Given the description of an element on the screen output the (x, y) to click on. 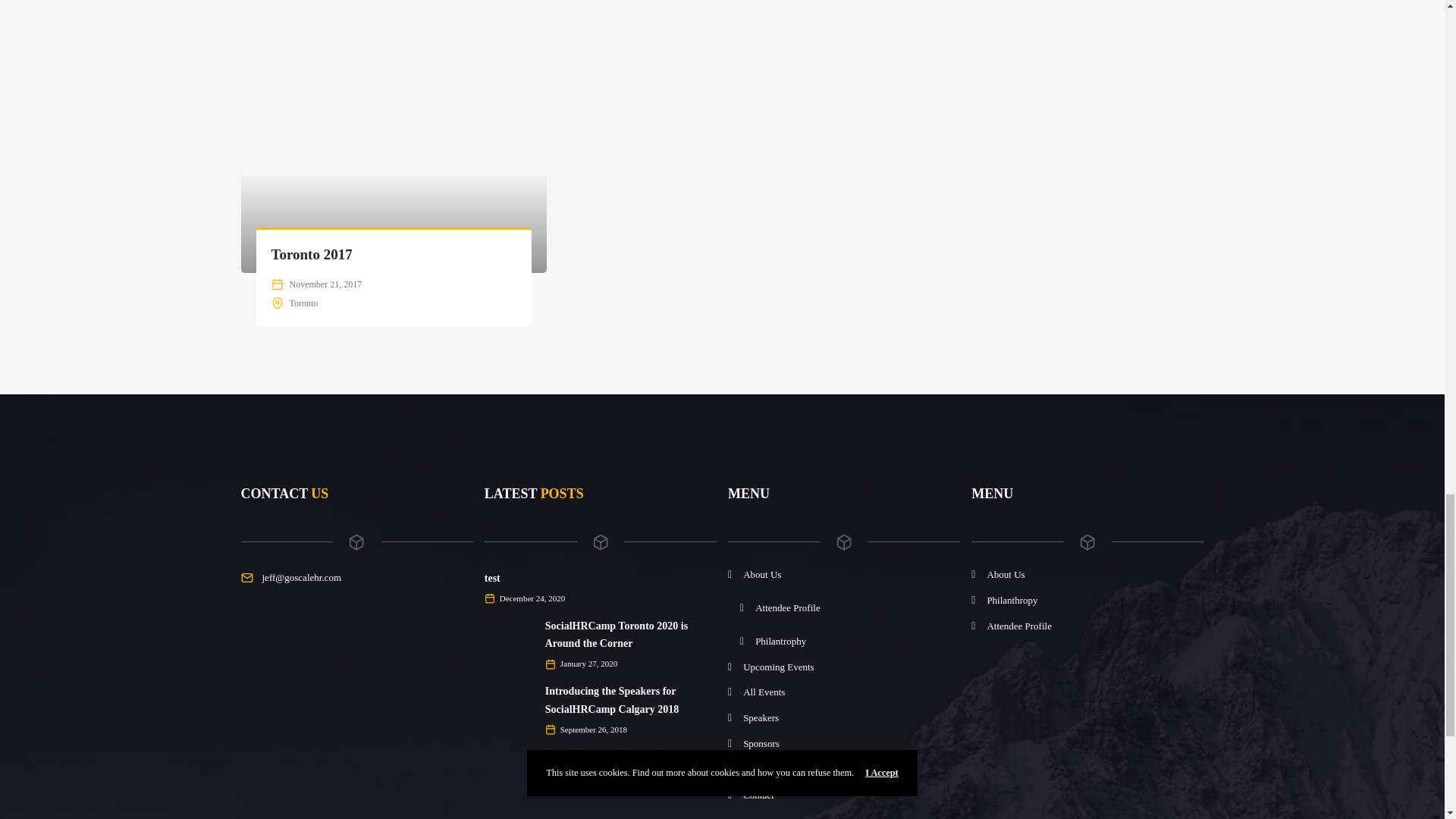
Toronto (303, 303)
test (492, 577)
Toronto 2017 (311, 254)
